Given the description of an element on the screen output the (x, y) to click on. 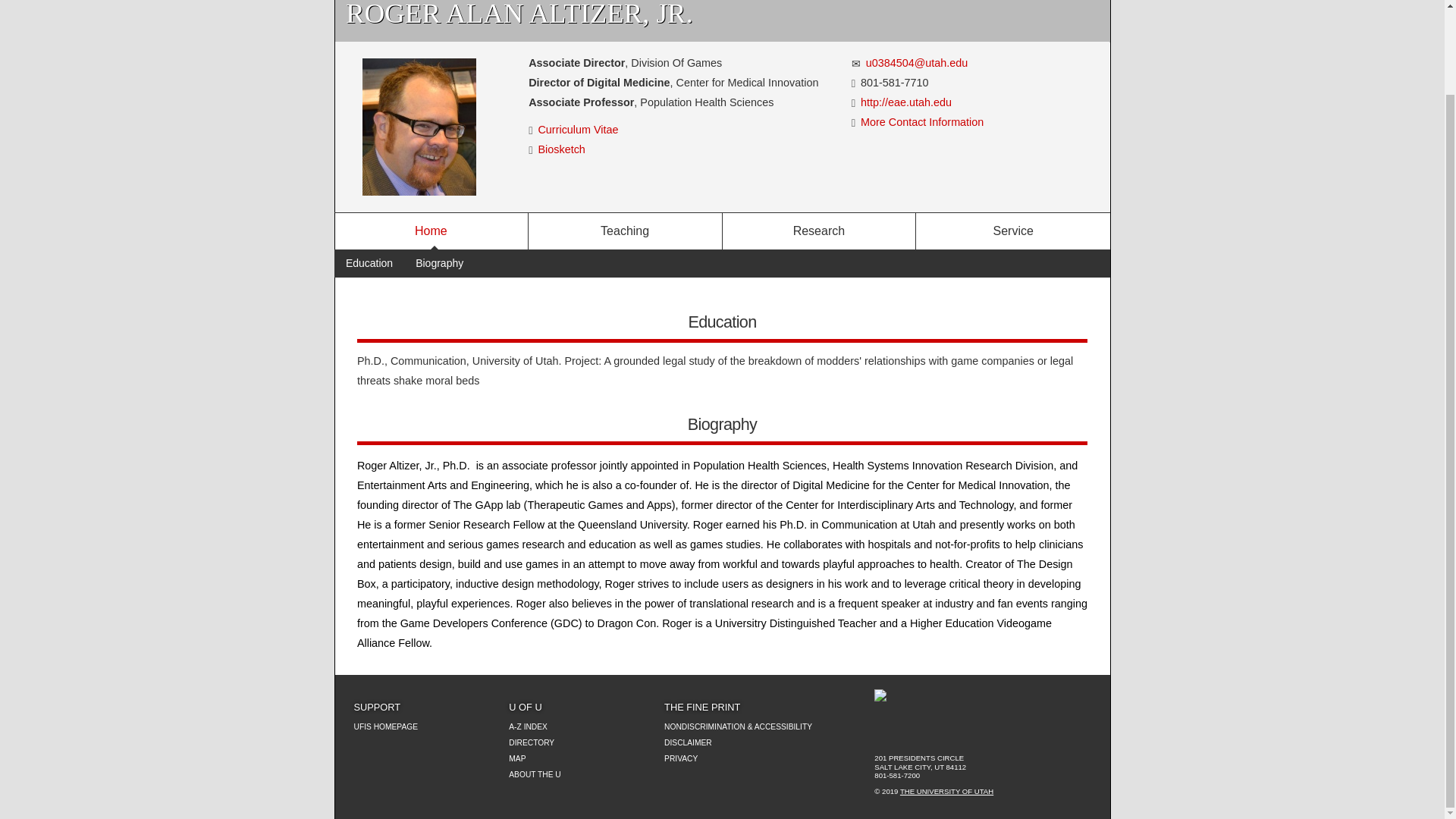
facebook (934, 732)
opens new window (562, 149)
opens new window (906, 102)
More Contact Information (922, 121)
Curriculum Vitae (579, 129)
opens new window (579, 129)
CIS login (883, 732)
Biosketch (562, 149)
U-Mail (908, 732)
email (857, 63)
